Given the description of an element on the screen output the (x, y) to click on. 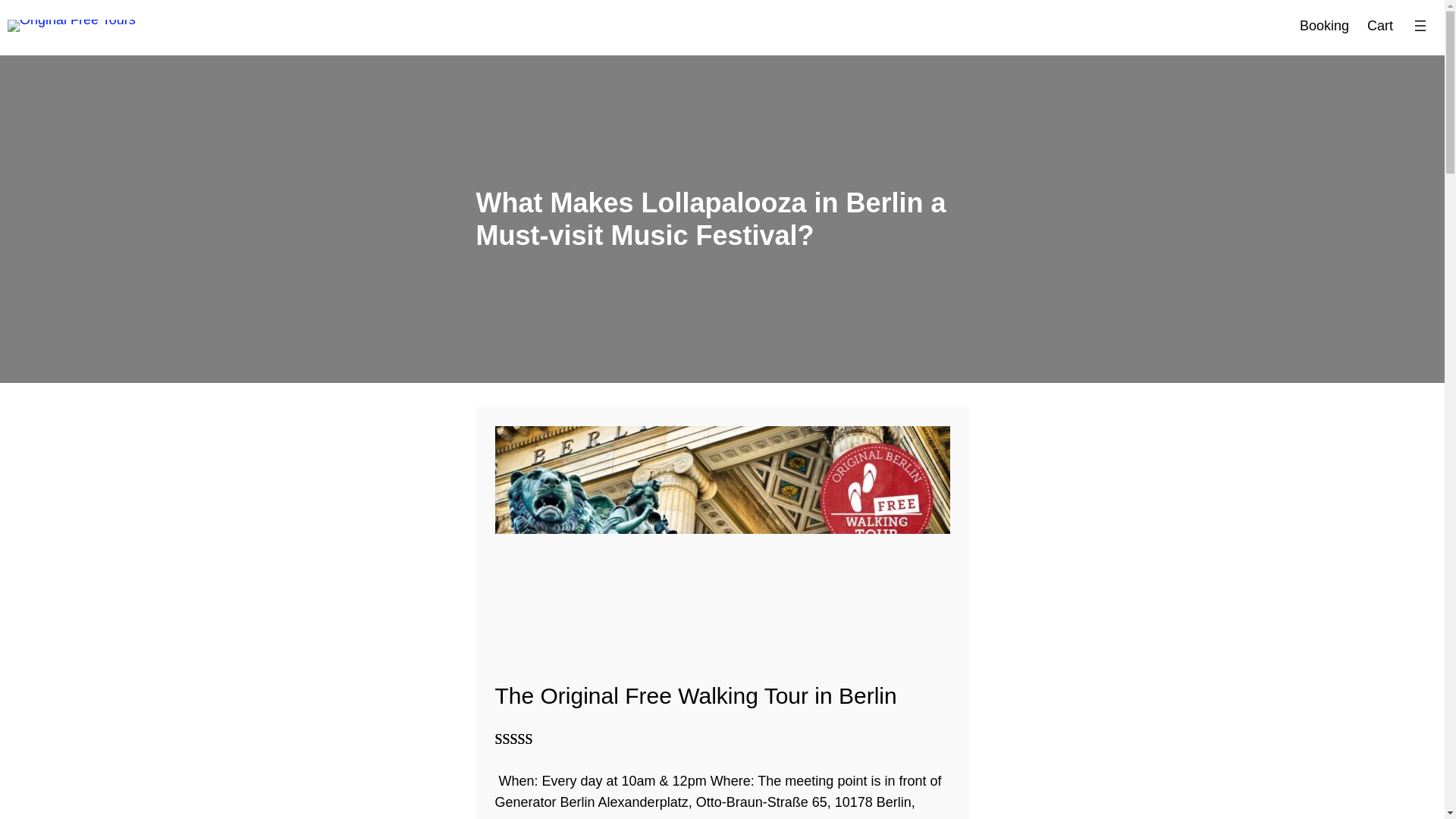
Booking (1324, 25)
Cart (1380, 25)
The Original Free Walking Tour in Berlin (695, 696)
